Given the description of an element on the screen output the (x, y) to click on. 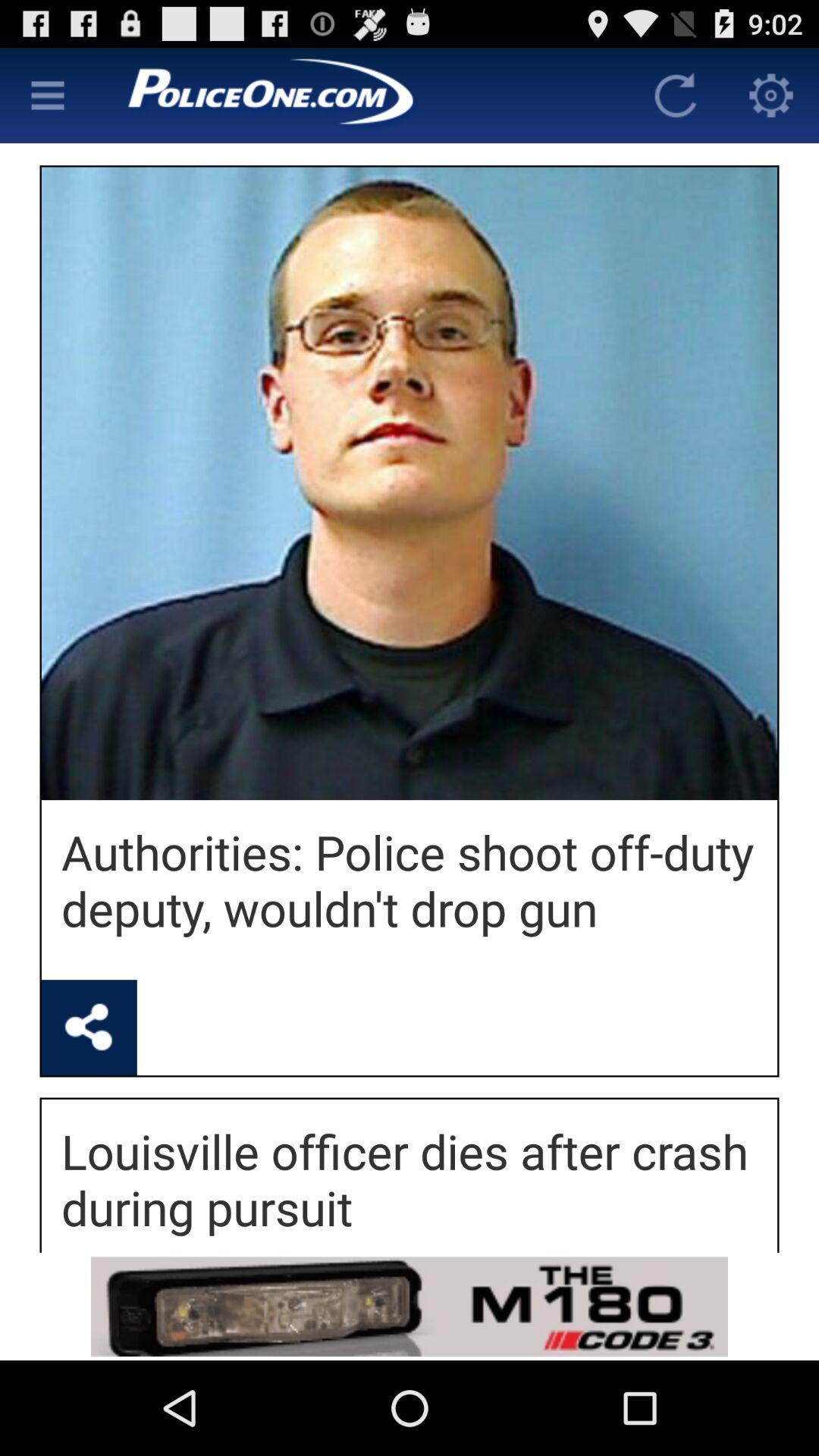
visibility is better quality (47, 95)
